Given the description of an element on the screen output the (x, y) to click on. 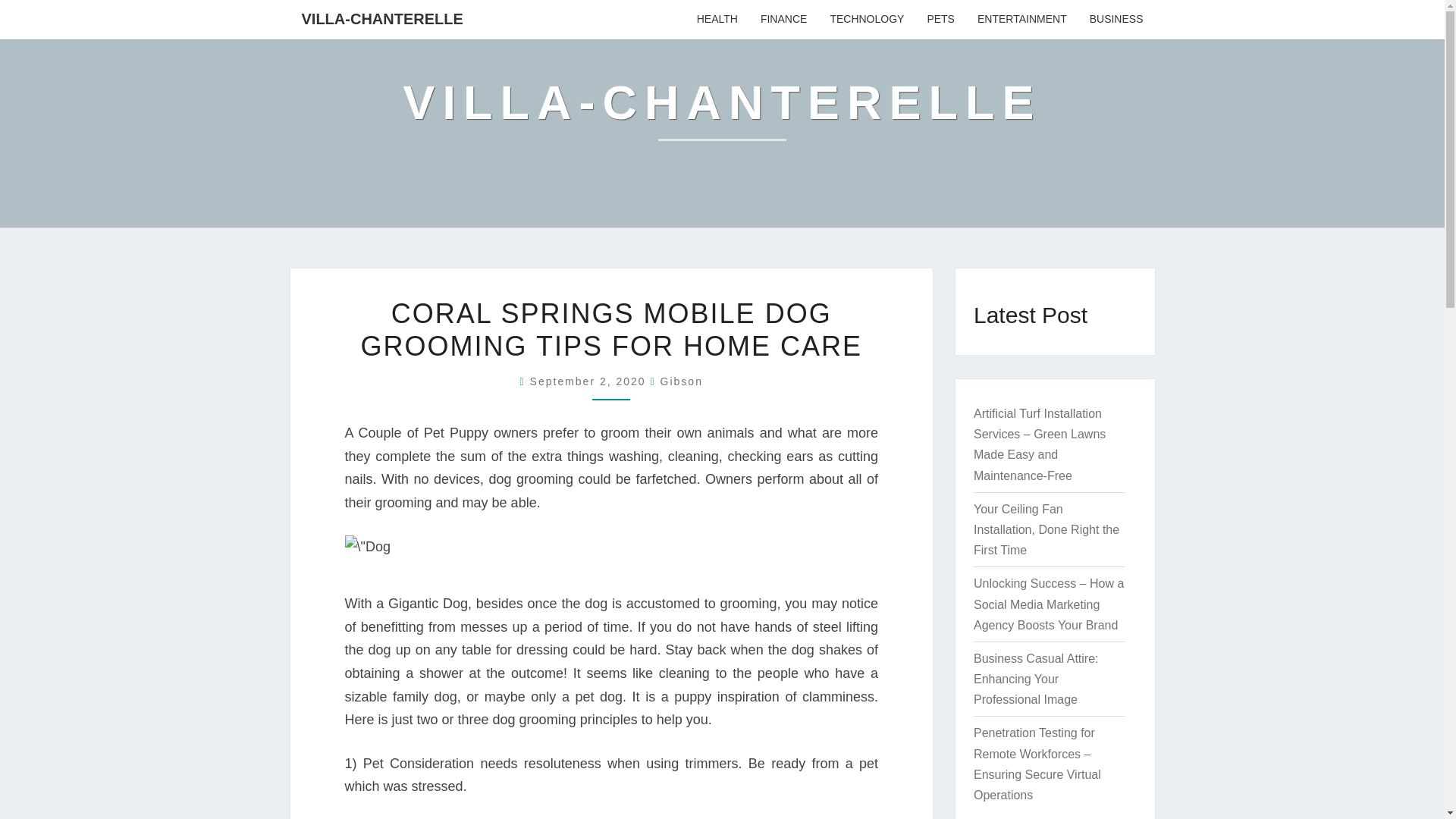
Business Casual Attire: Enhancing Your Professional Image (1036, 678)
BUSINESS (1116, 19)
Gibson (682, 381)
VILLA-CHANTERELLE (722, 113)
villa-chanterelle (722, 113)
VILLA-CHANTERELLE (381, 18)
5:00 am (589, 381)
PETS (940, 19)
September 2, 2020 (589, 381)
HEALTH (717, 19)
